Given the description of an element on the screen output the (x, y) to click on. 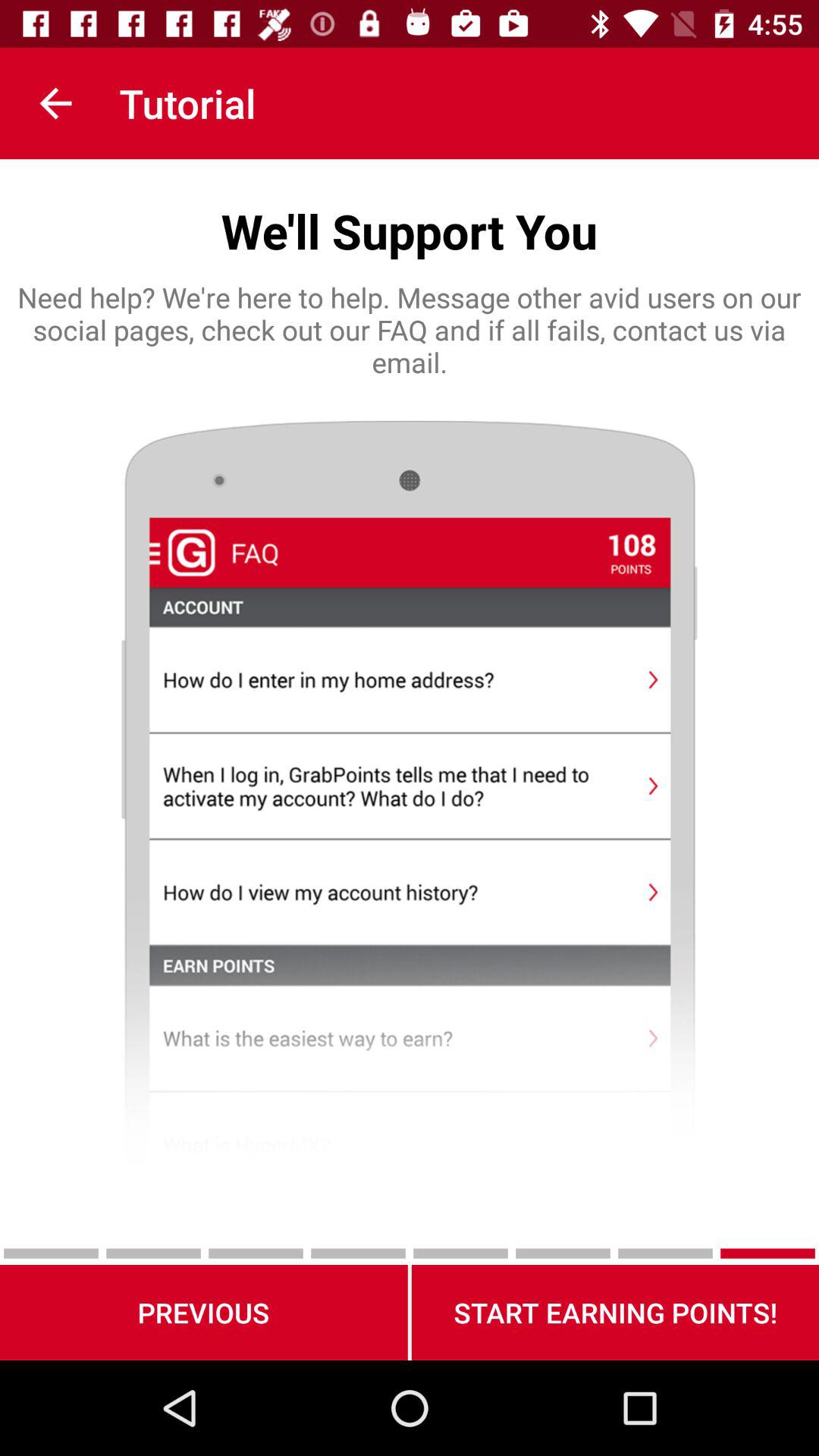
turn off icon next to the start earning points! icon (203, 1312)
